Given the description of an element on the screen output the (x, y) to click on. 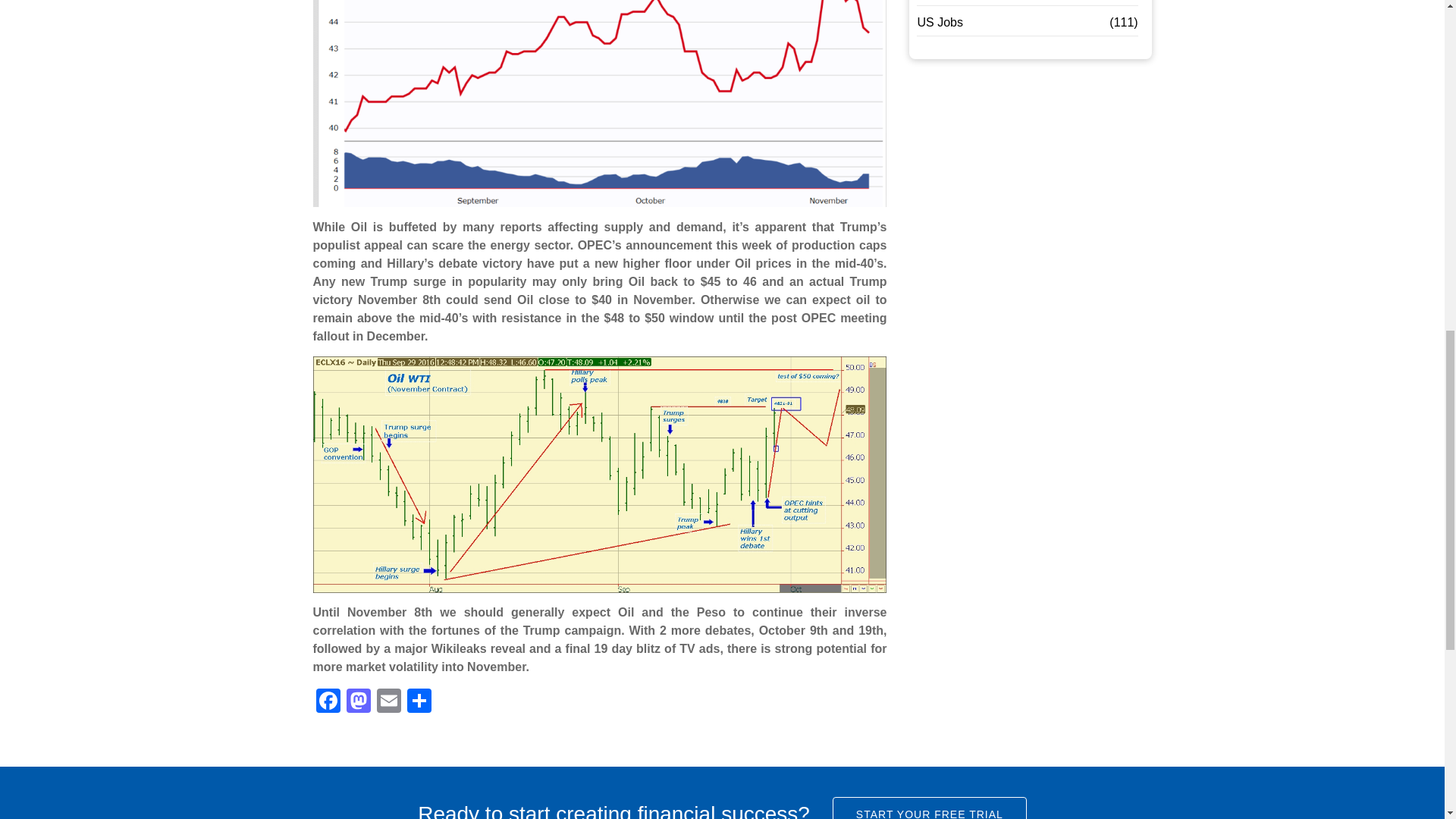
Facebook (327, 702)
Mastodon (357, 702)
Email (387, 702)
